Given the description of an element on the screen output the (x, y) to click on. 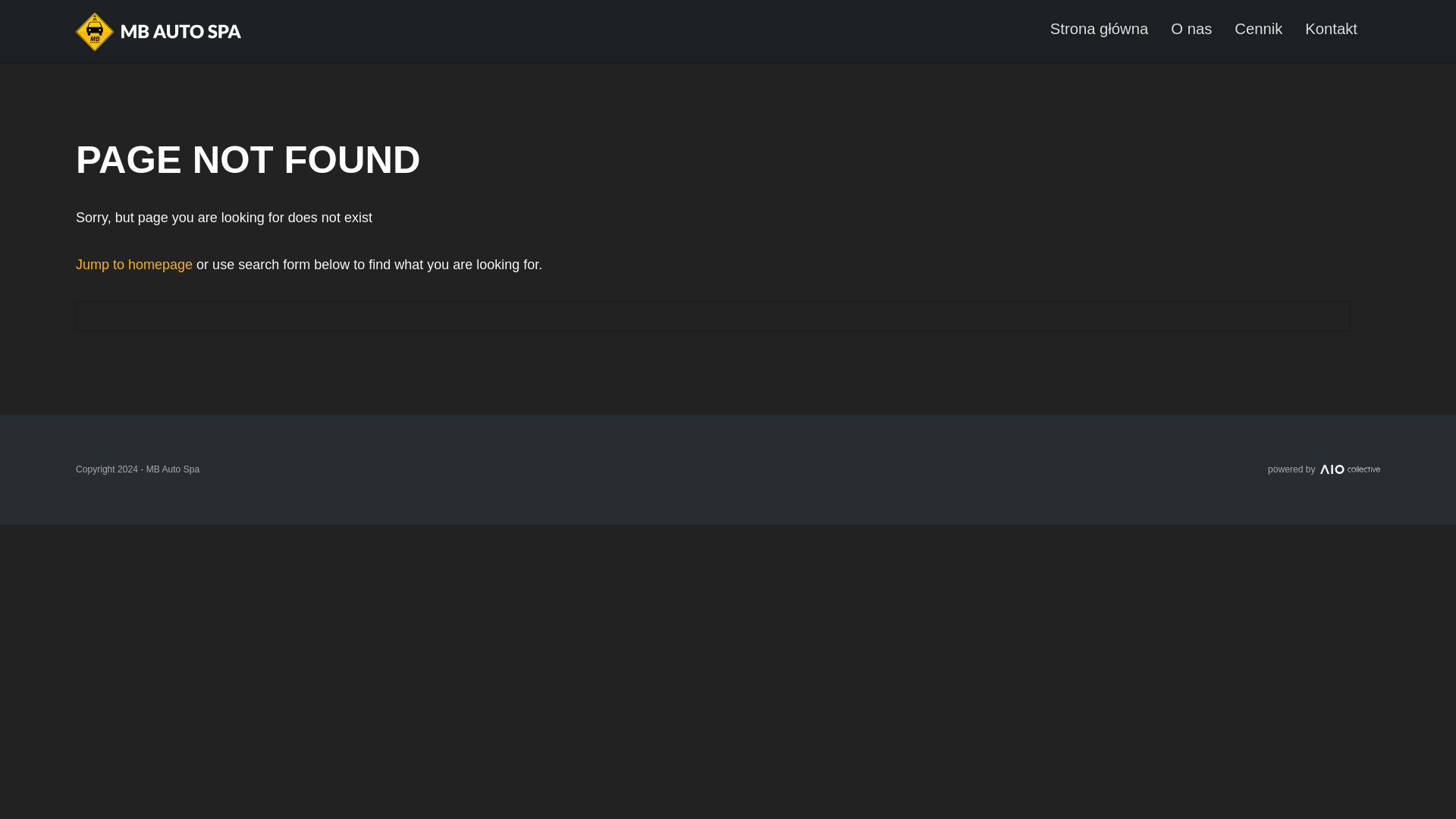
Kontakt (1330, 28)
Cennik (1258, 28)
O nas (1190, 28)
Jump to homepage (133, 264)
